Given the description of an element on the screen output the (x, y) to click on. 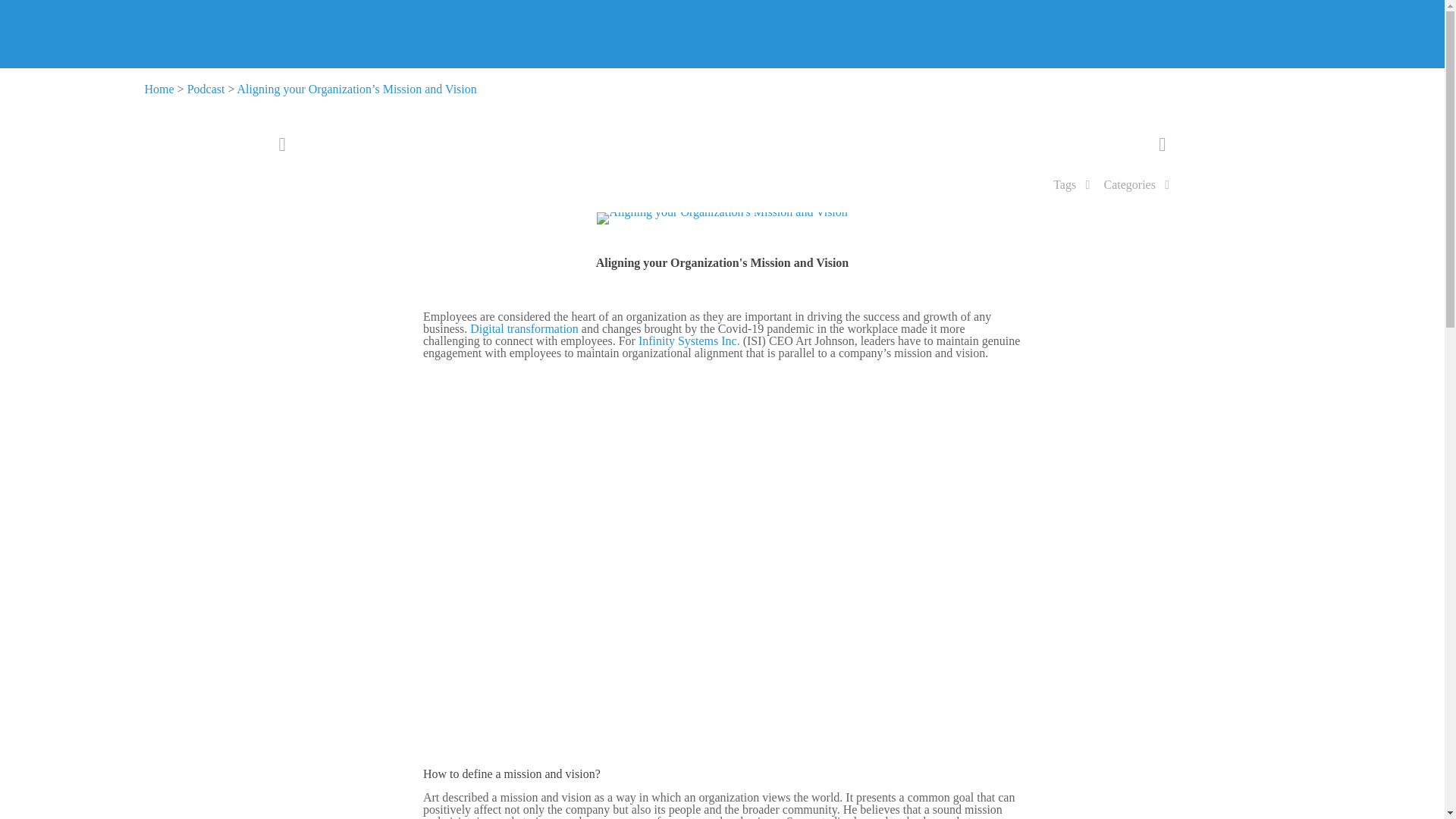
Podcast (206, 88)
Go to the Podcast Category archives. (206, 88)
Home (158, 88)
